Given the description of an element on the screen output the (x, y) to click on. 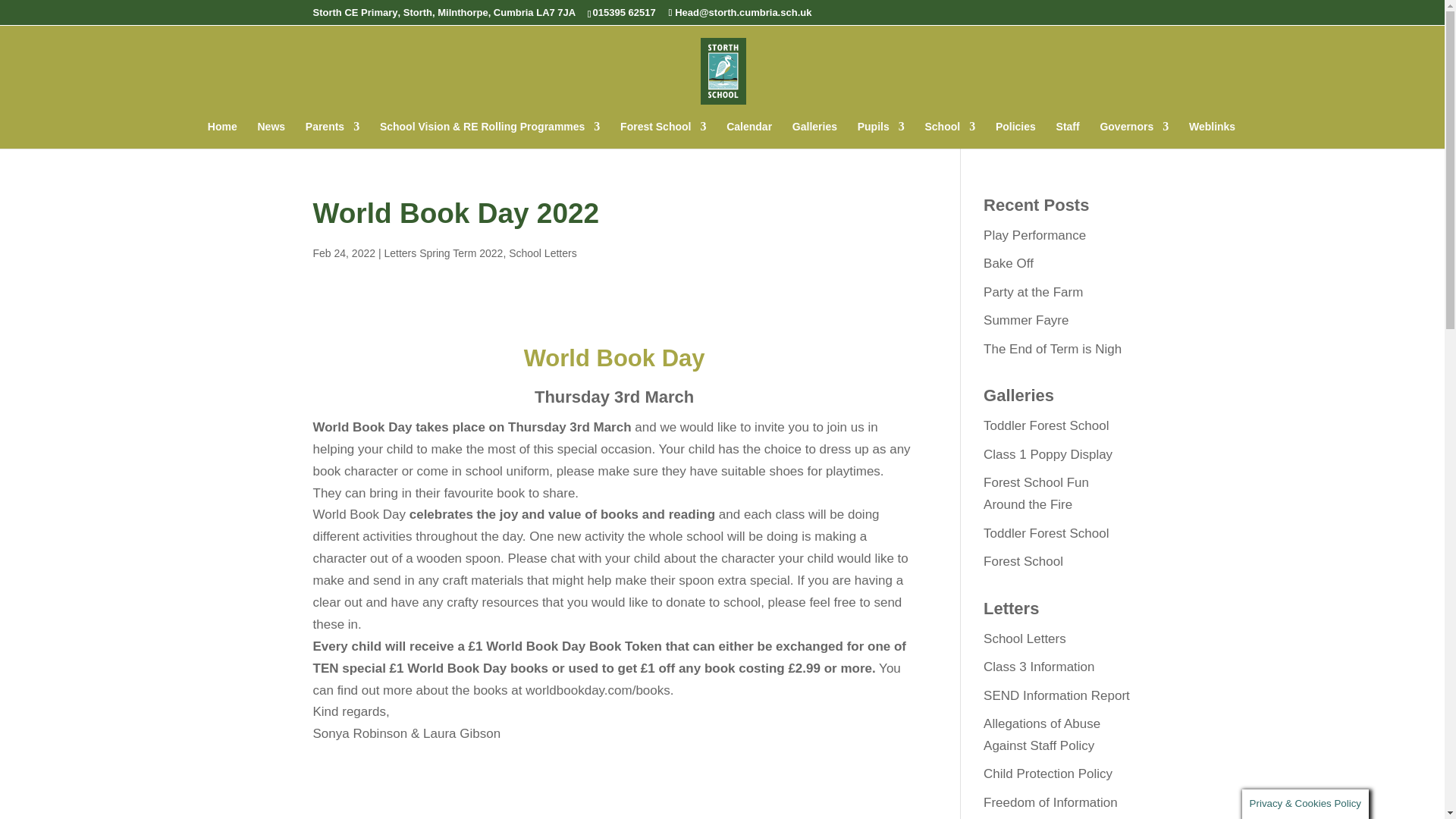
Calendar (748, 134)
News (271, 134)
Home (222, 134)
Parents (332, 134)
School (949, 134)
Pupils (880, 134)
Galleries (814, 134)
Storth CE Primary, Storth, Milnthorpe, Cumbria LA7 7JA (444, 12)
Forest School (663, 134)
